Given the description of an element on the screen output the (x, y) to click on. 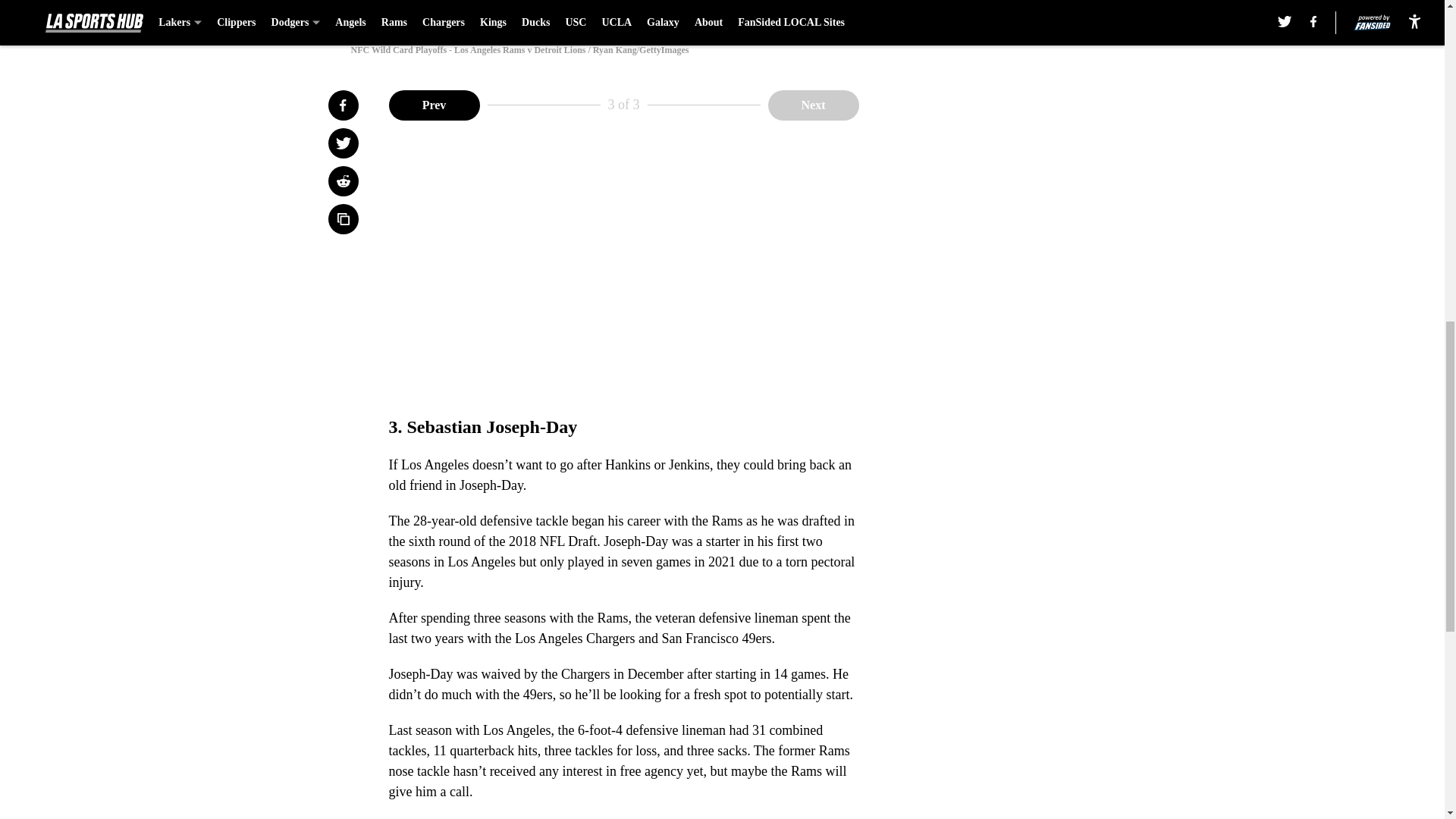
Prev (433, 104)
NFC Wild Card Playoffs - Los Angeles Rams v Detroit Lions (721, 14)
Next (813, 104)
